Given the description of an element on the screen output the (x, y) to click on. 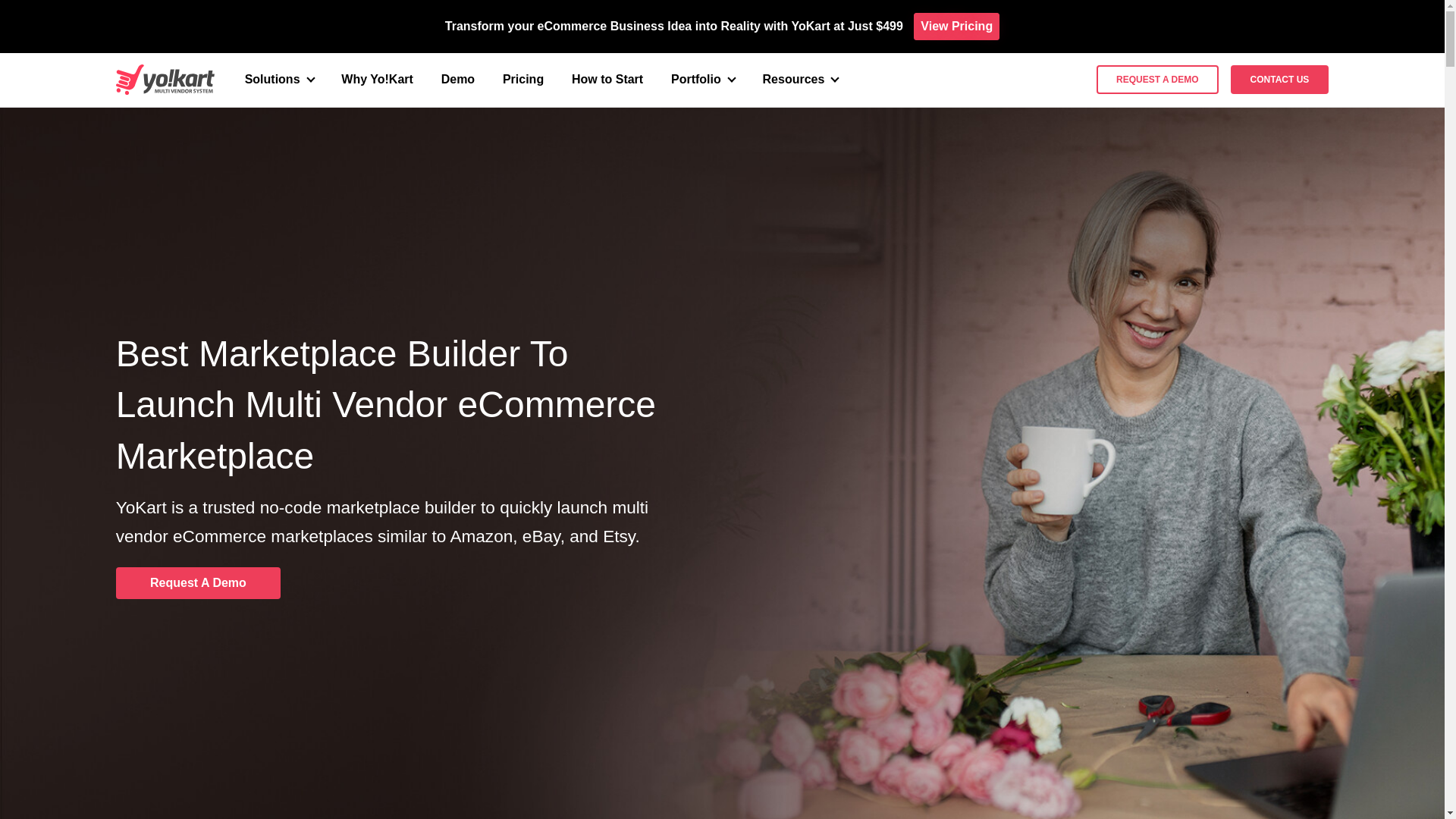
CONTACT US (1279, 79)
Solutions (279, 79)
Pricing (522, 78)
REQUEST A DEMO (1156, 79)
Request A Demo (198, 582)
Resources (800, 79)
How to Start (607, 78)
Why Yo!Kart (376, 78)
Portfolio (703, 79)
View Pricing (956, 26)
Demo (457, 78)
